Given the description of an element on the screen output the (x, y) to click on. 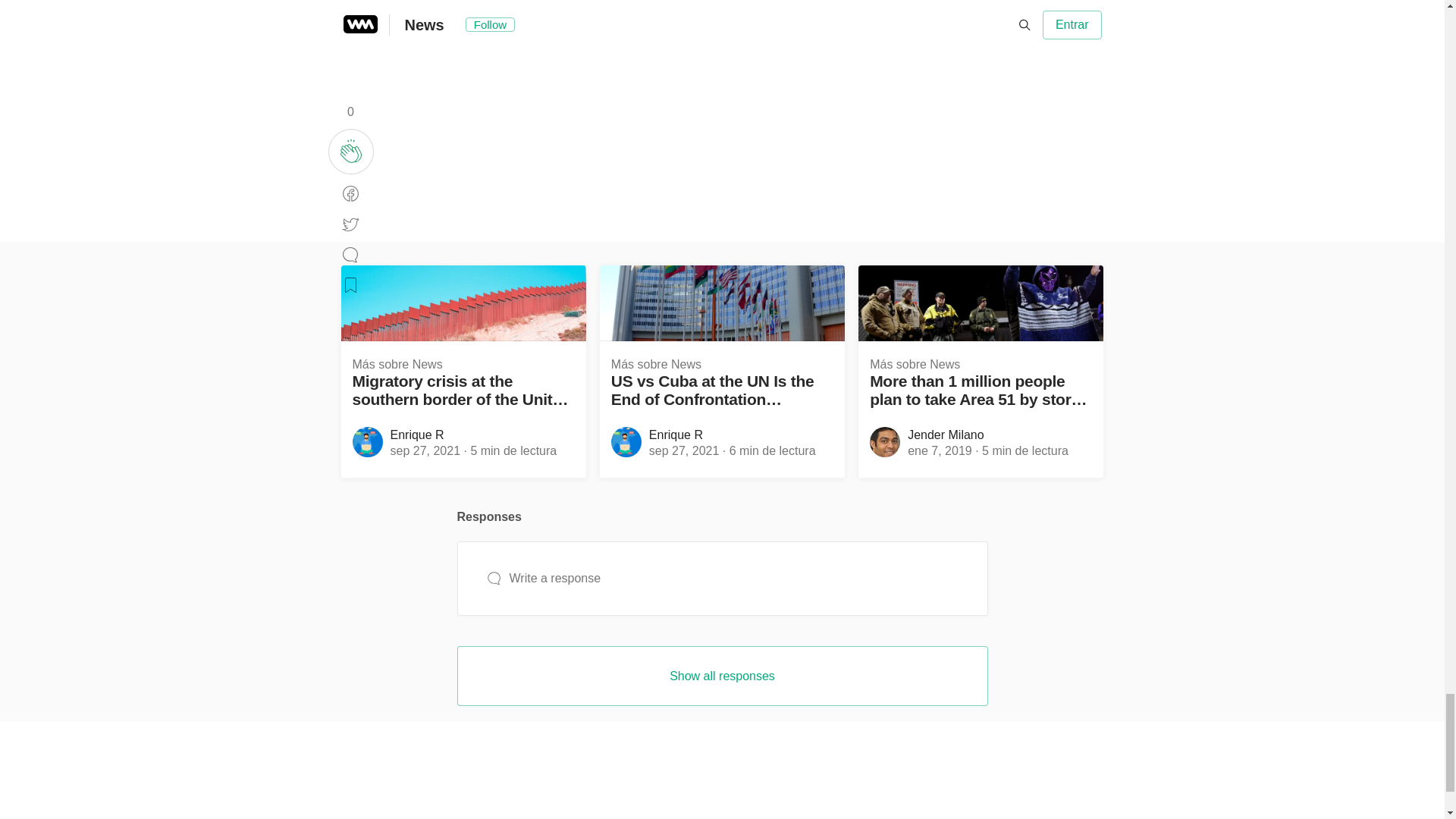
sep 27, 2021 (684, 450)
Enrique R (417, 434)
sep 27, 2021 (425, 450)
Enrique R (676, 434)
US vs Cuba at the UN Is the End of Confrontation Needing? (721, 391)
